Given the description of an element on the screen output the (x, y) to click on. 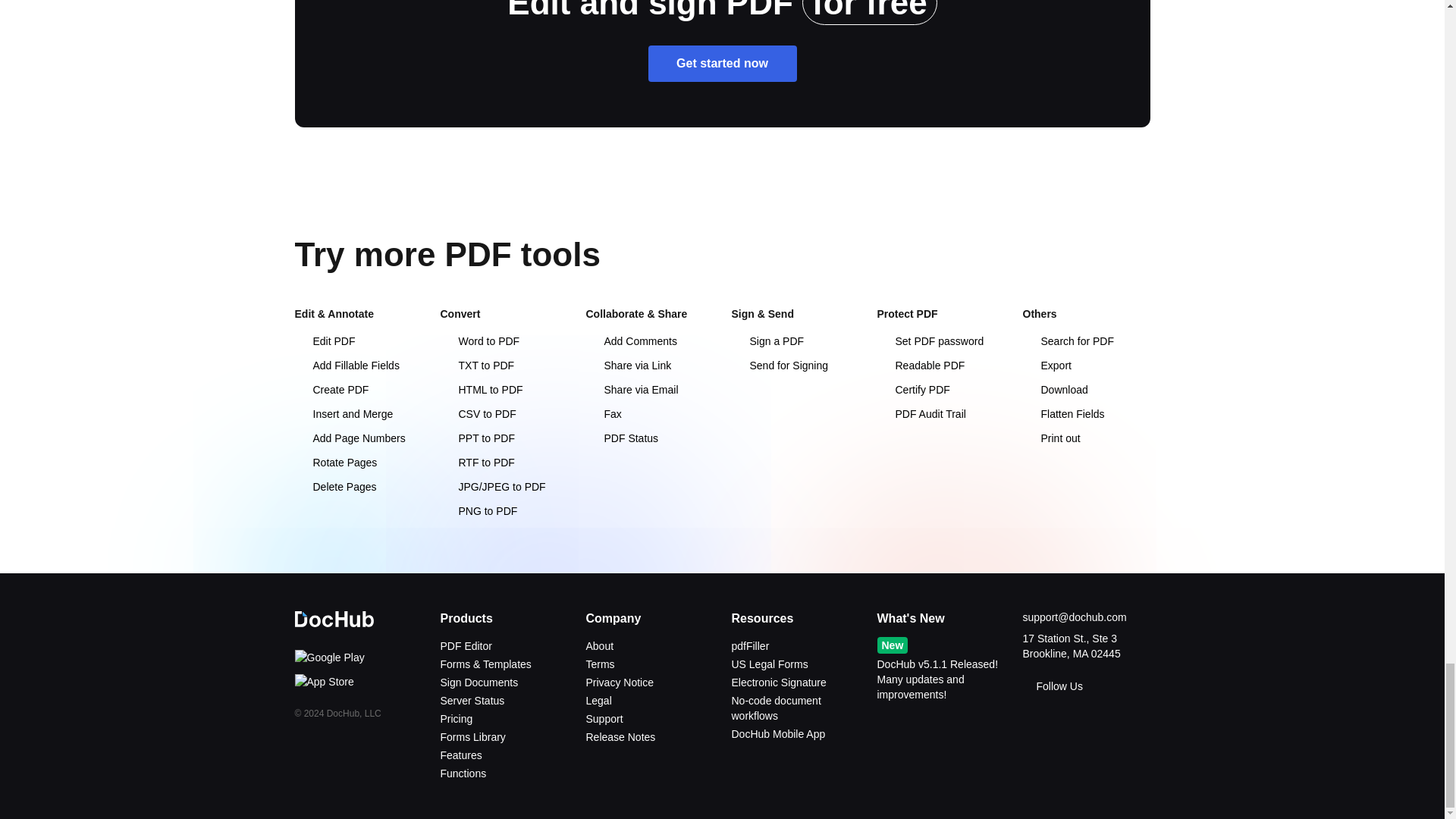
Add Comments (631, 340)
Rotate Pages (335, 462)
Create PDF (331, 389)
Add Fillable Fields (346, 365)
Share via Link (628, 365)
Sign a PDF (766, 340)
Add Page Numbers (349, 438)
PPT to PDF (476, 438)
Edit PDF (324, 340)
Insert and Merge (343, 413)
CSV to PDF (477, 413)
RTF to PDF (476, 462)
Fax (603, 413)
Share via Email (631, 389)
PNG to PDF (477, 510)
